Given the description of an element on the screen output the (x, y) to click on. 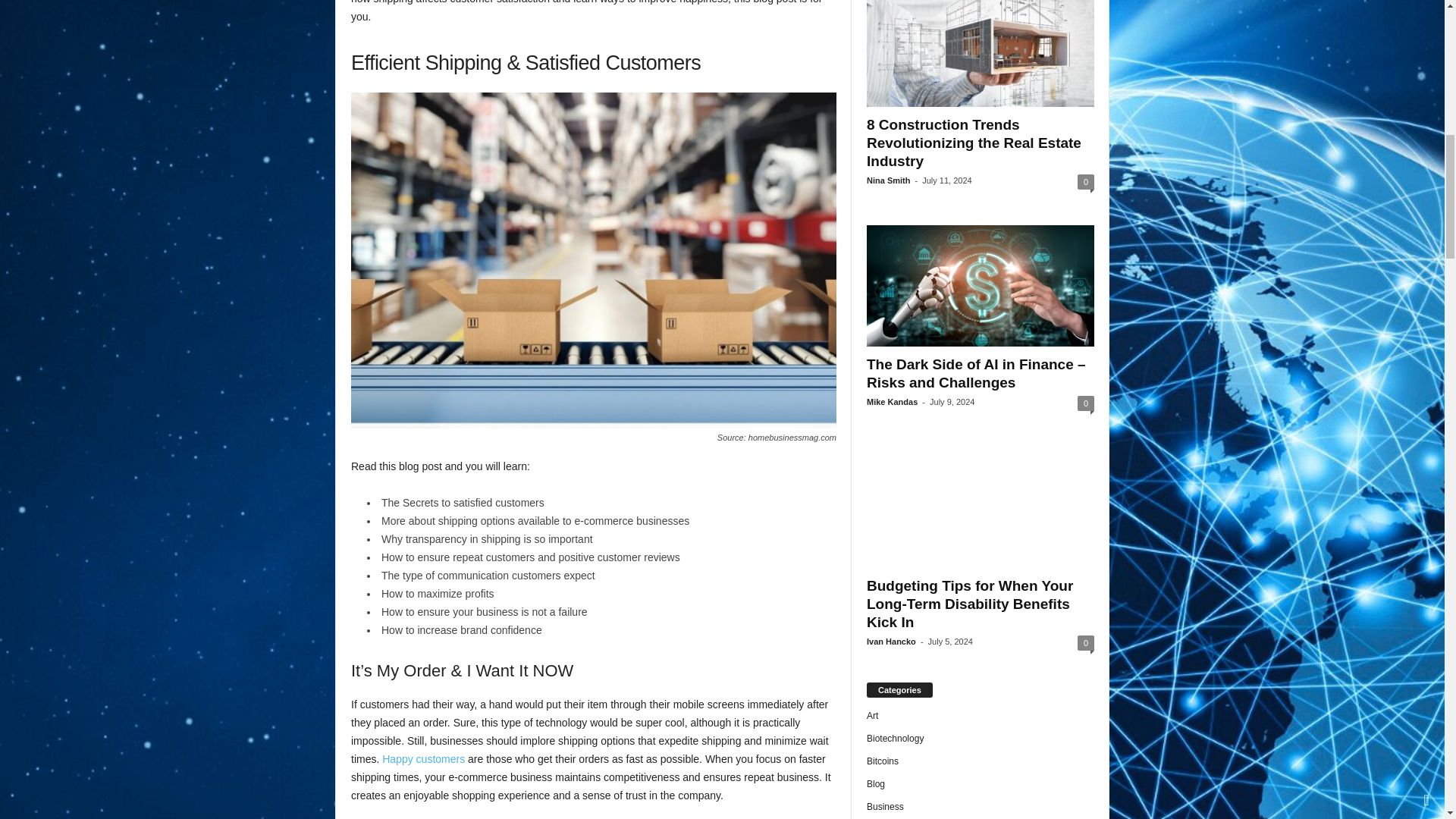
Happy customers (422, 758)
